Given the description of an element on the screen output the (x, y) to click on. 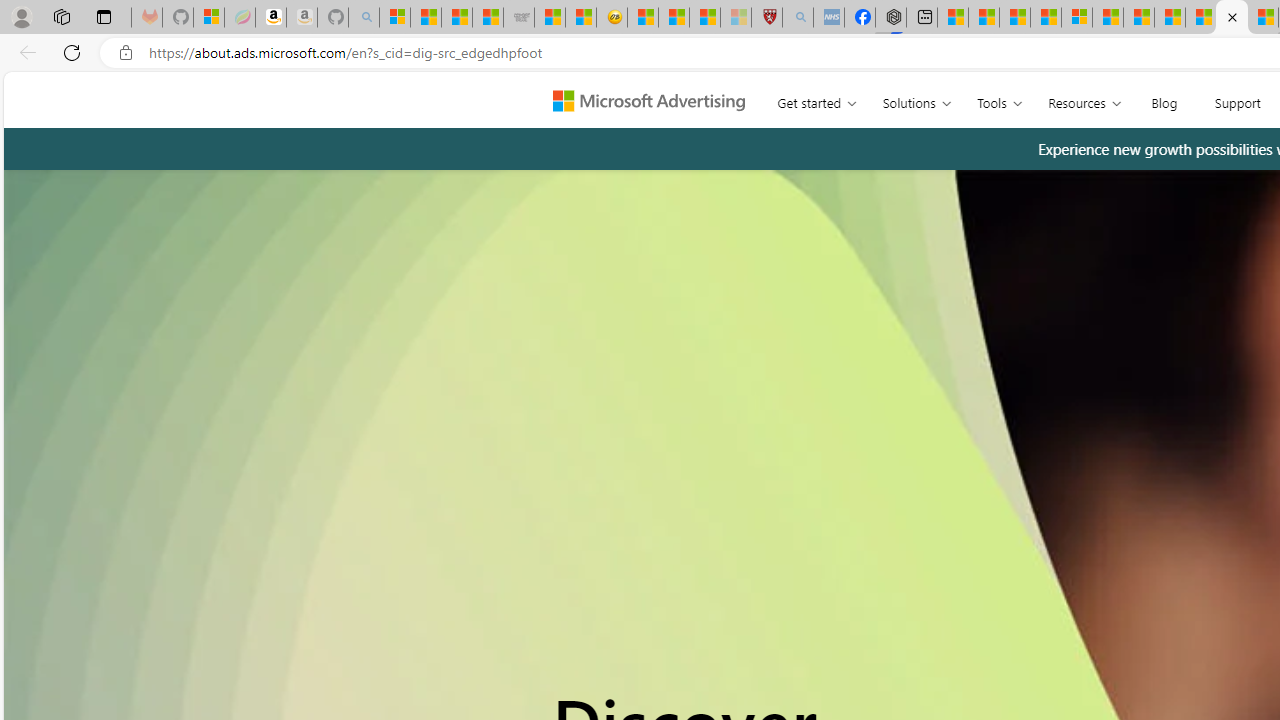
MSNBC - MSN (456, 17)
Stocks - MSN (487, 17)
Microsoft-Report a Concern to Bing (208, 17)
14 Common Myths Debunked By Scientific Facts (1169, 17)
Recipes - MSN (642, 17)
Blog (1164, 98)
NCL Adult Asthma Inhaler Choice Guideline - Sleeping (828, 17)
Nordace - Nordace Siena Is Not An Ordinary Backpack (890, 17)
